Given the description of an element on the screen output the (x, y) to click on. 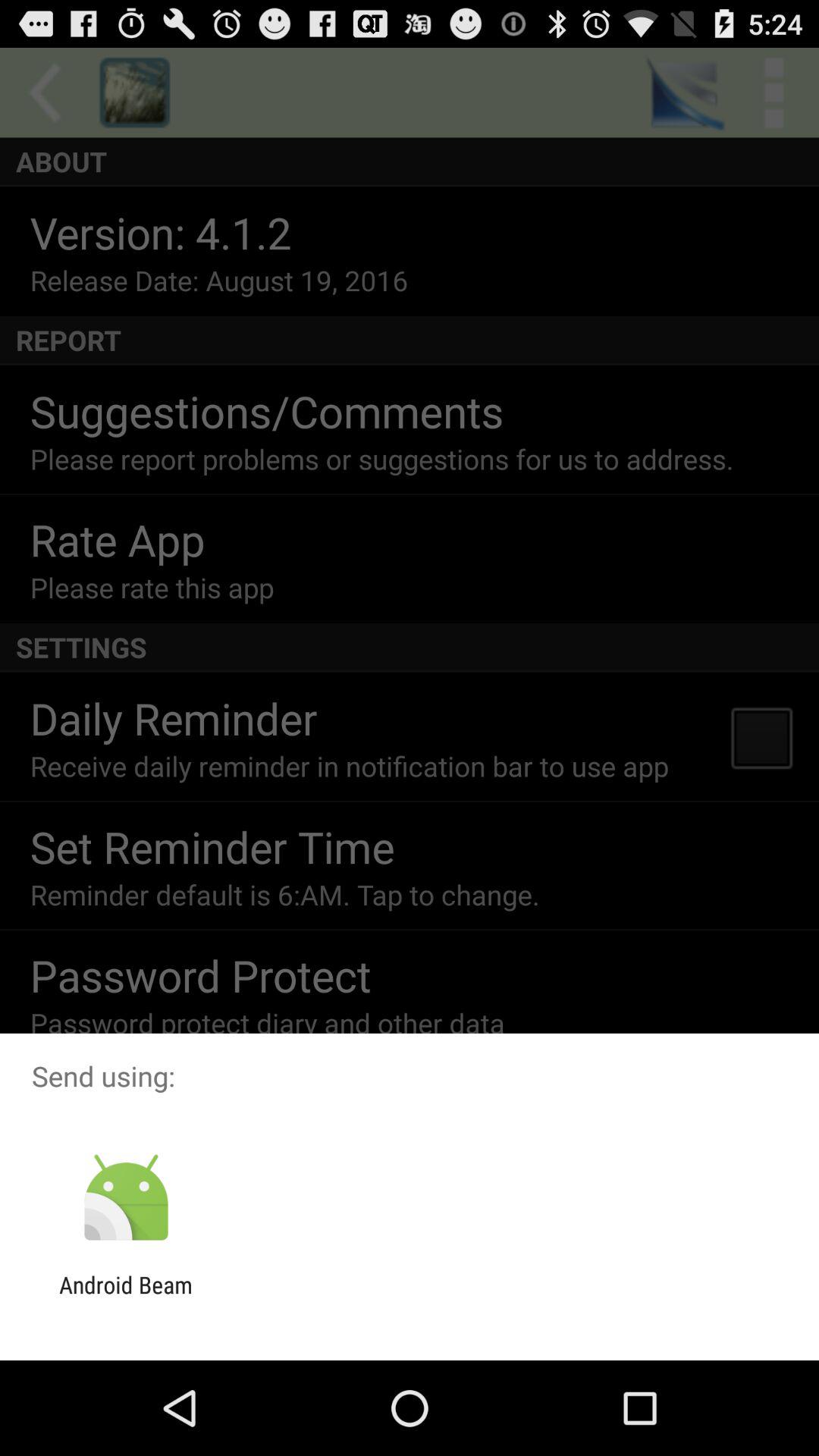
swipe until android beam (125, 1298)
